Given the description of an element on the screen output the (x, y) to click on. 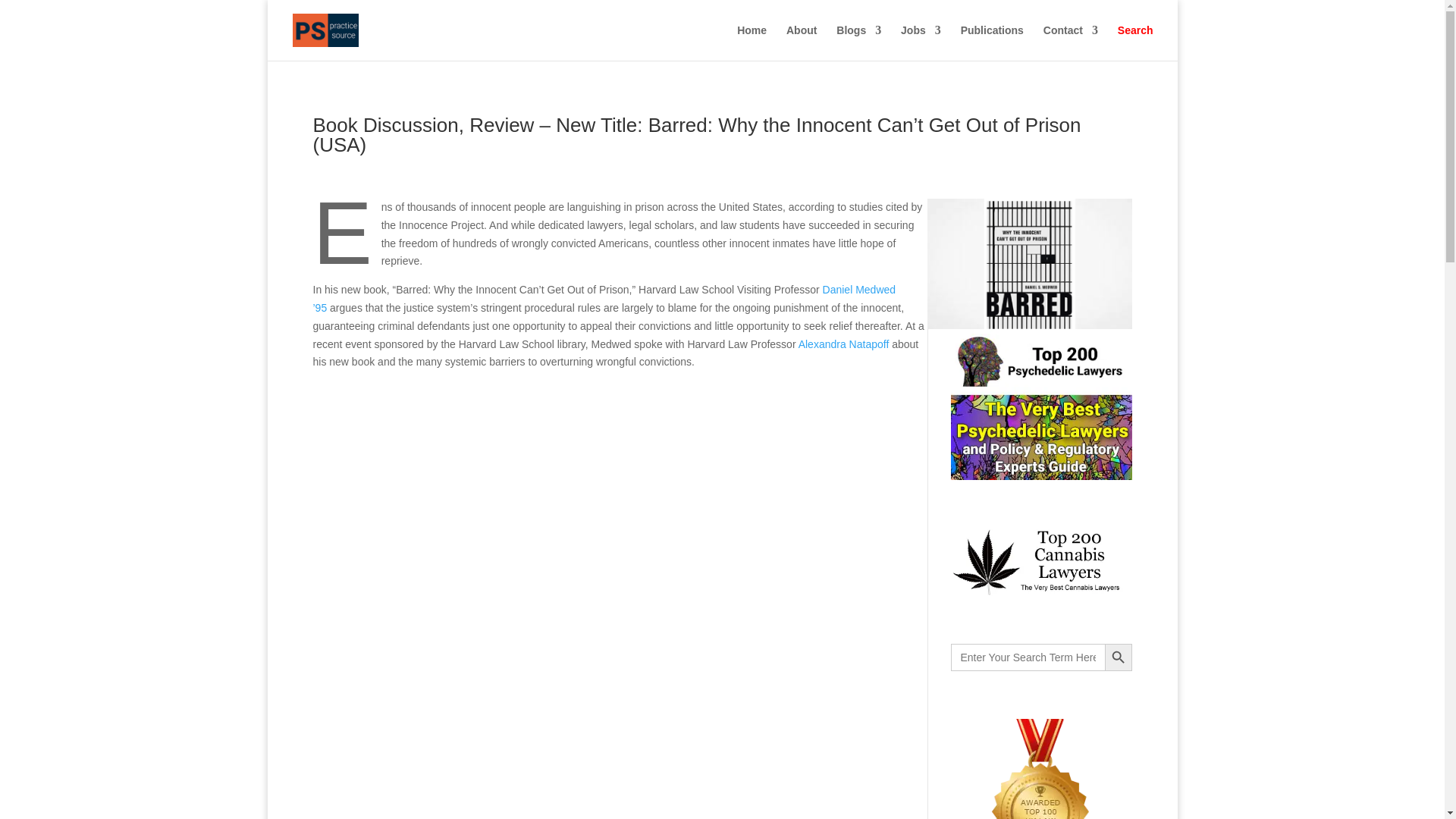
Search Button (1117, 656)
Alexandra Natapoff (843, 344)
Blogs (857, 42)
Search (1135, 42)
Contact (1070, 42)
Screenshot 2024-02-16 at 10.23.20 am (1028, 264)
Publications (991, 42)
Jobs (920, 42)
